Given the description of an element on the screen output the (x, y) to click on. 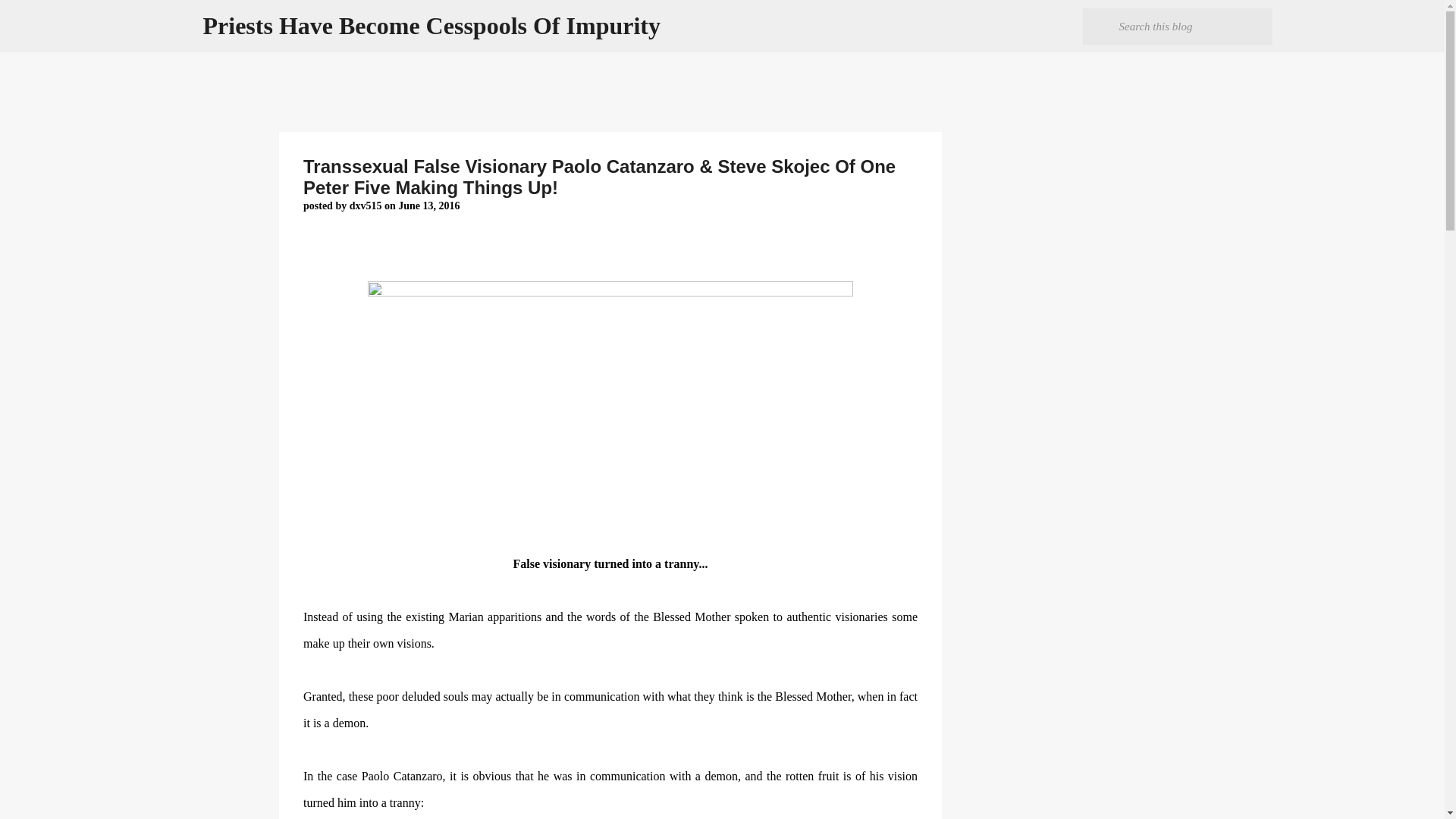
June 13, 2016 (428, 205)
author profile (366, 205)
Priests Have Become Cesspools Of Impurity (432, 25)
dxv515 (366, 205)
permanent link (428, 205)
